Given the description of an element on the screen output the (x, y) to click on. 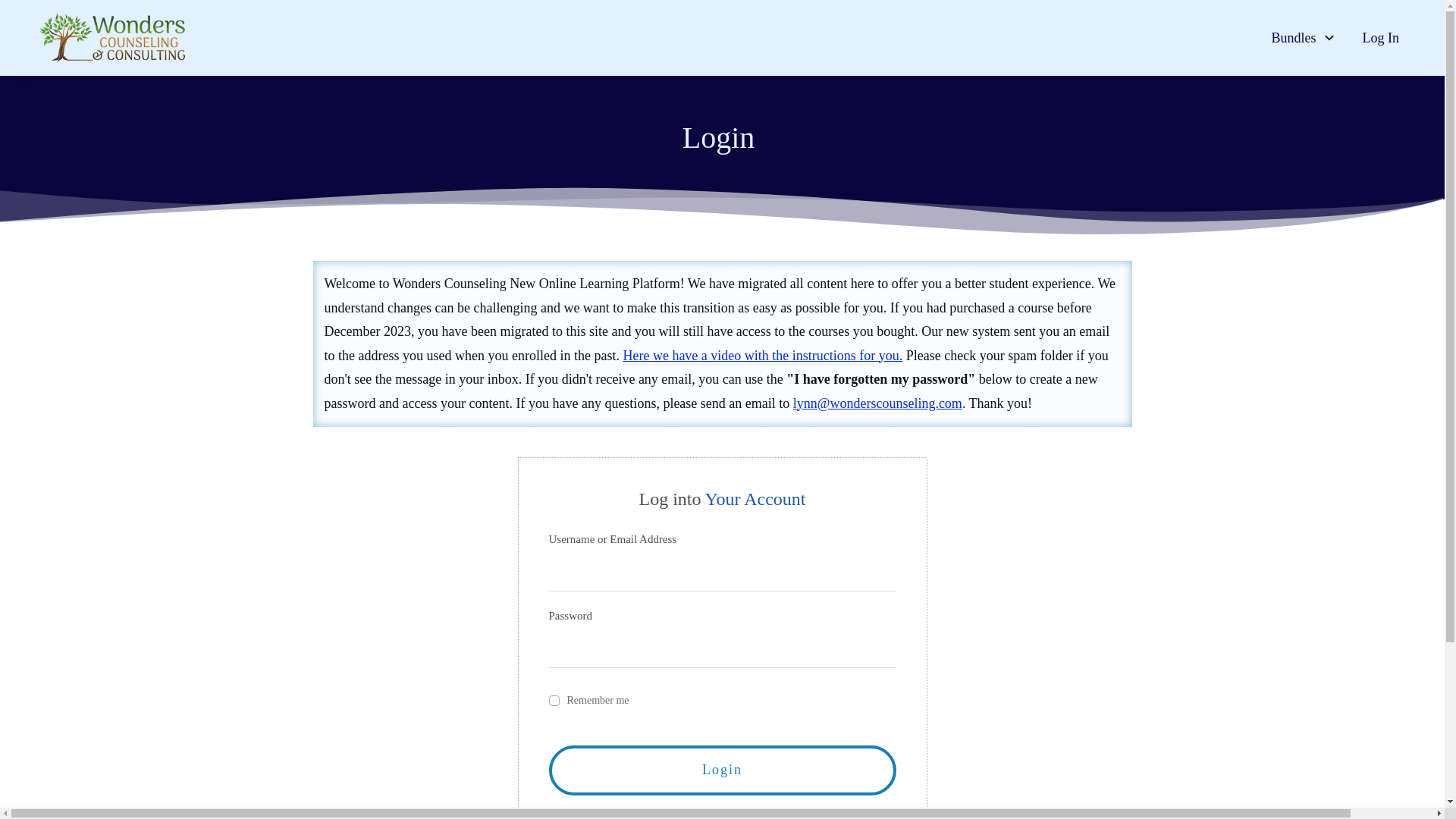
Here we have a video with the instructions for you. (762, 354)
Login (722, 770)
Log In (1380, 37)
I have forgotten my password (721, 816)
Login (722, 770)
Bundles (1303, 37)
